Given the description of an element on the screen output the (x, y) to click on. 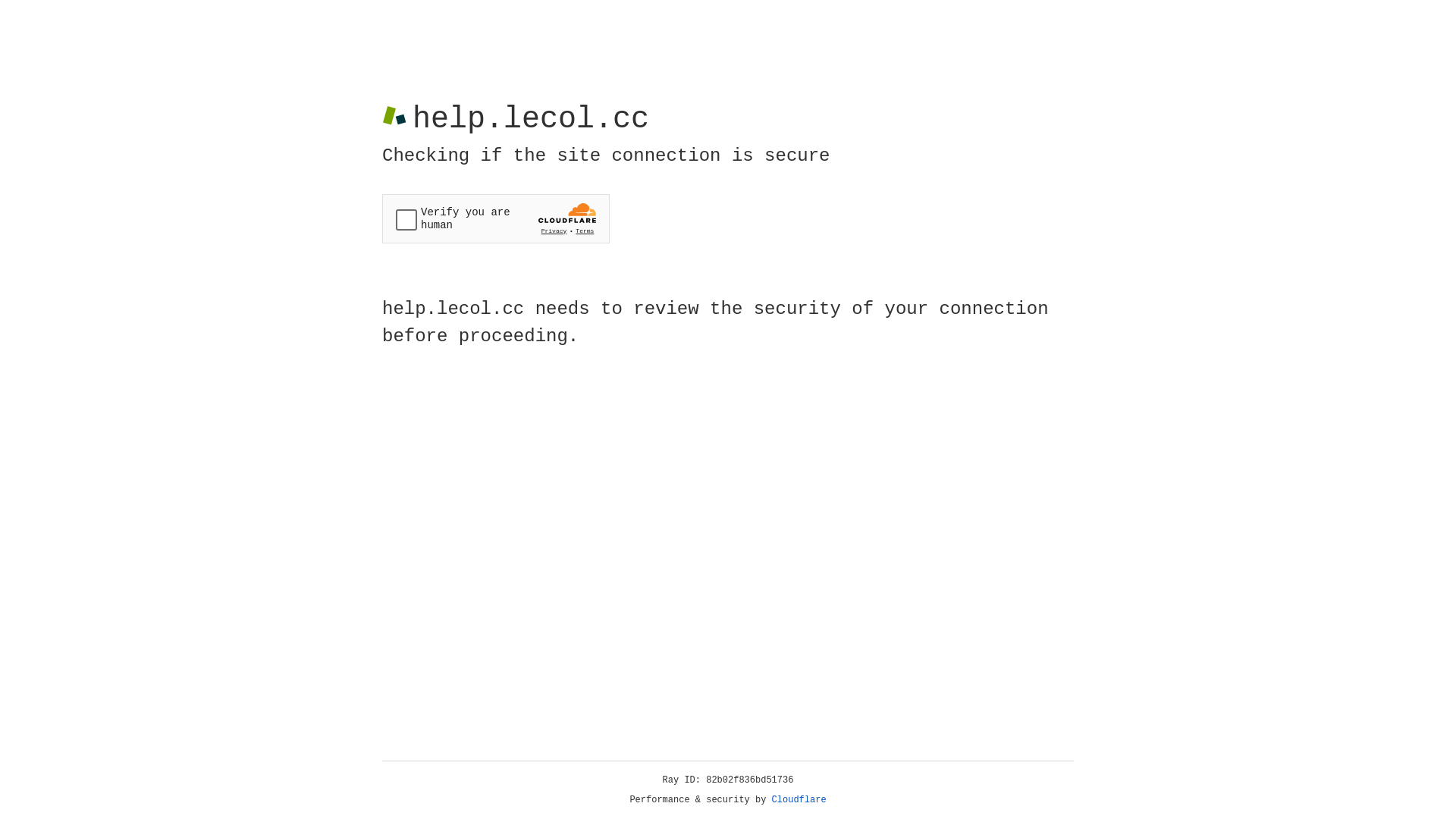
Widget containing a Cloudflare security challenge Element type: hover (495, 218)
Cloudflare Element type: text (798, 799)
